Given the description of an element on the screen output the (x, y) to click on. 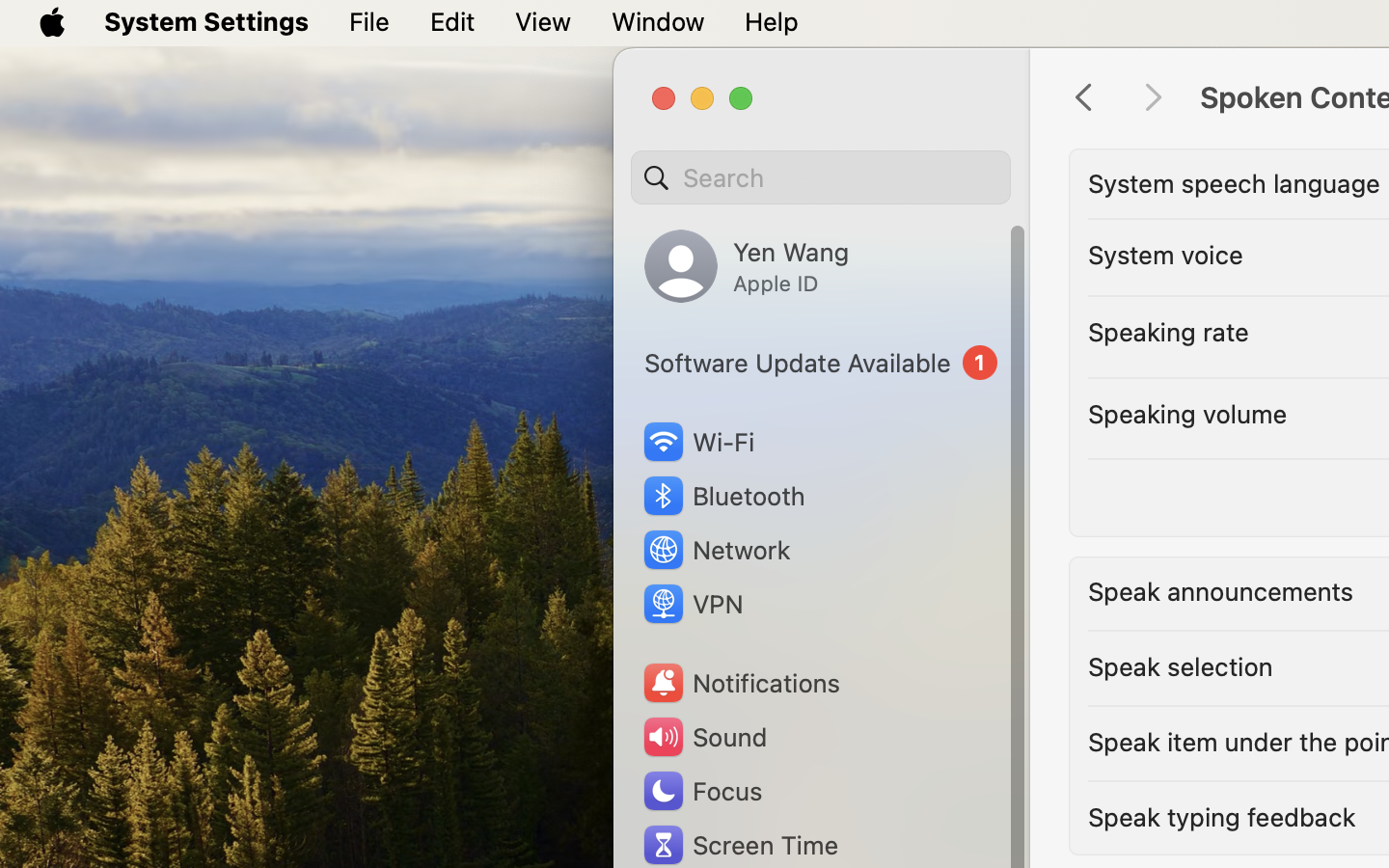
Screen Time Element type: AXStaticText (739, 844)
Sound Element type: AXStaticText (703, 736)
